Given the description of an element on the screen output the (x, y) to click on. 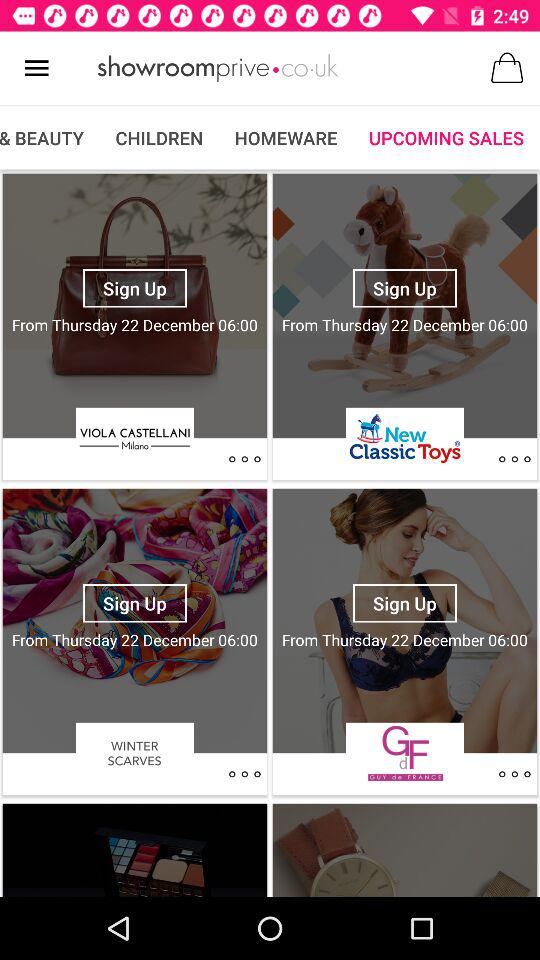
go back (514, 774)
